Given the description of an element on the screen output the (x, y) to click on. 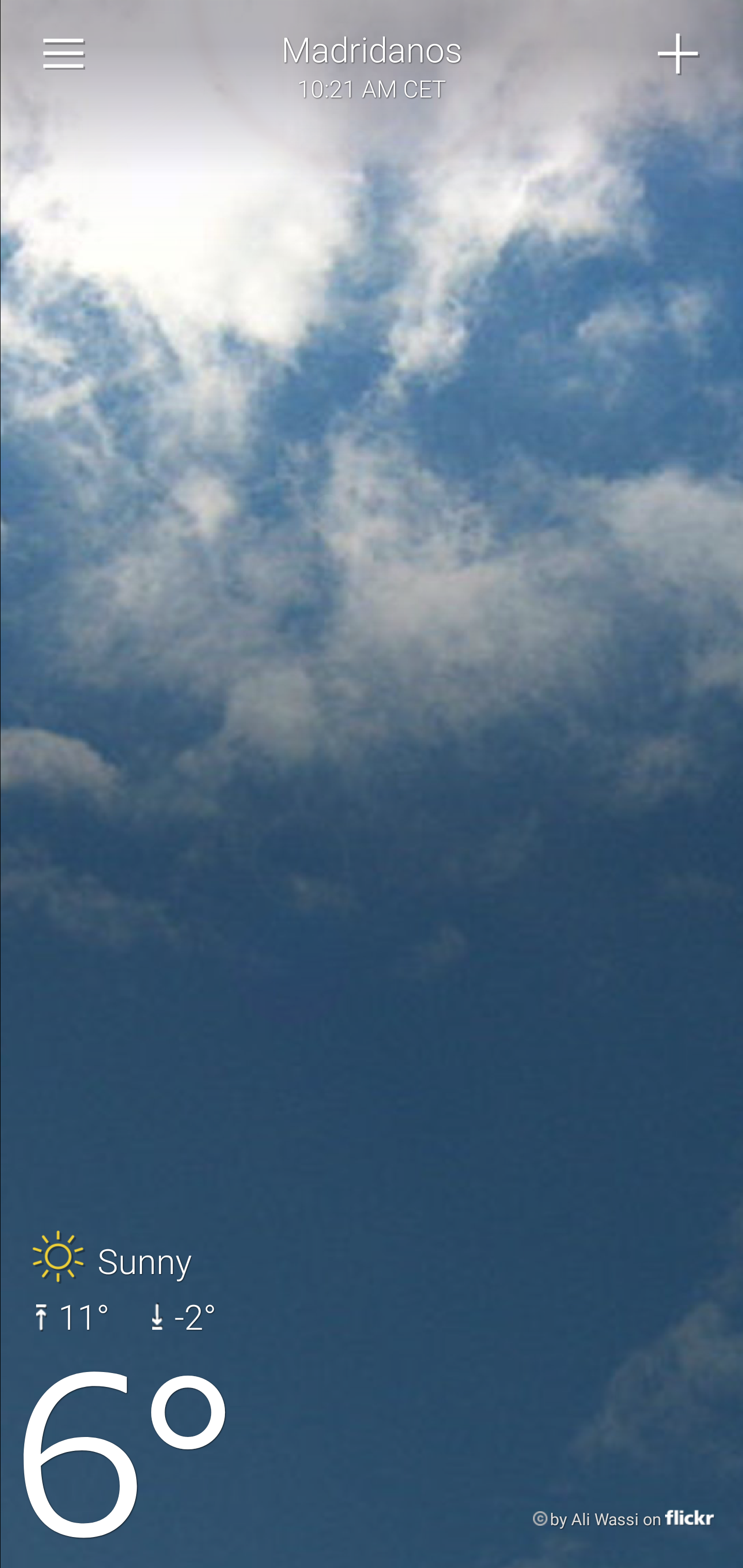
Sidebar (64, 54)
Add City (678, 53)
